Given the description of an element on the screen output the (x, y) to click on. 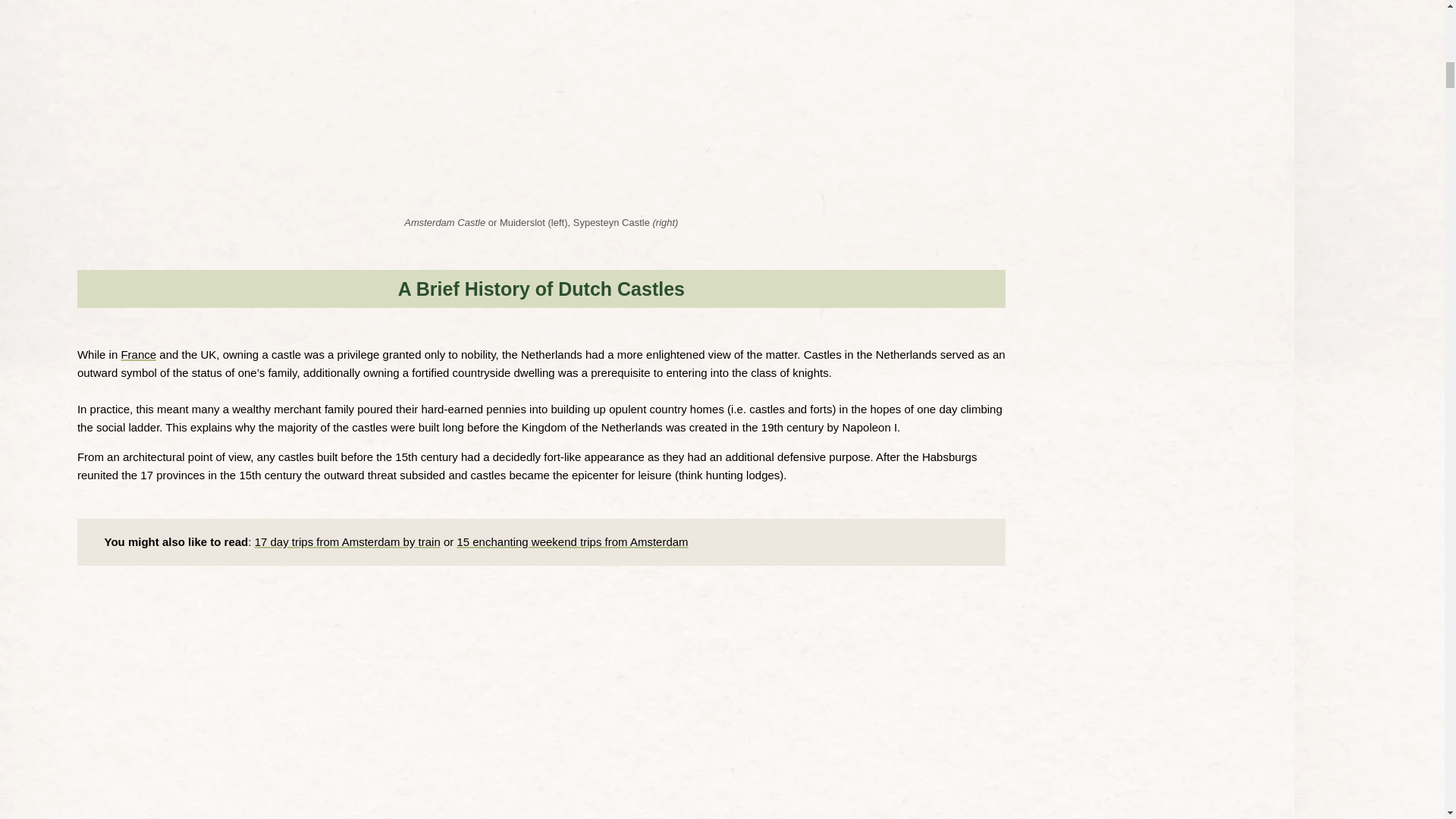
16 Most Beautiful Castles in the Netherlands (307, 711)
16 Most Beautiful Castles in the Netherlands (775, 103)
16 Most Beautiful Castles in the Netherlands (775, 711)
16 Most Beautiful Castles in the Netherlands (307, 103)
